Given the description of an element on the screen output the (x, y) to click on. 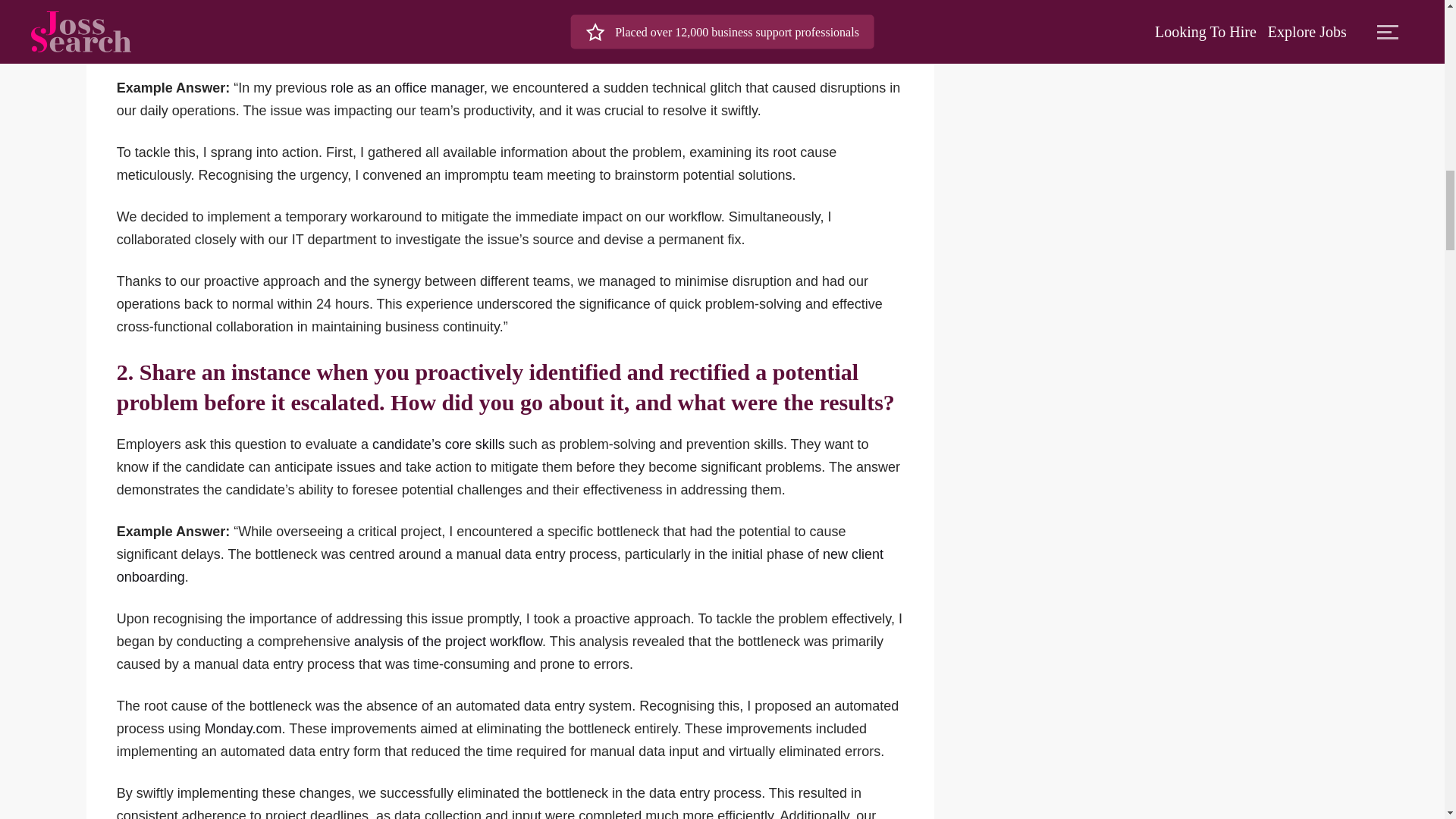
role as an office manager (406, 87)
analysis of the project workflow (447, 641)
new client onboarding (499, 565)
Monday.com (243, 728)
